Given the description of an element on the screen output the (x, y) to click on. 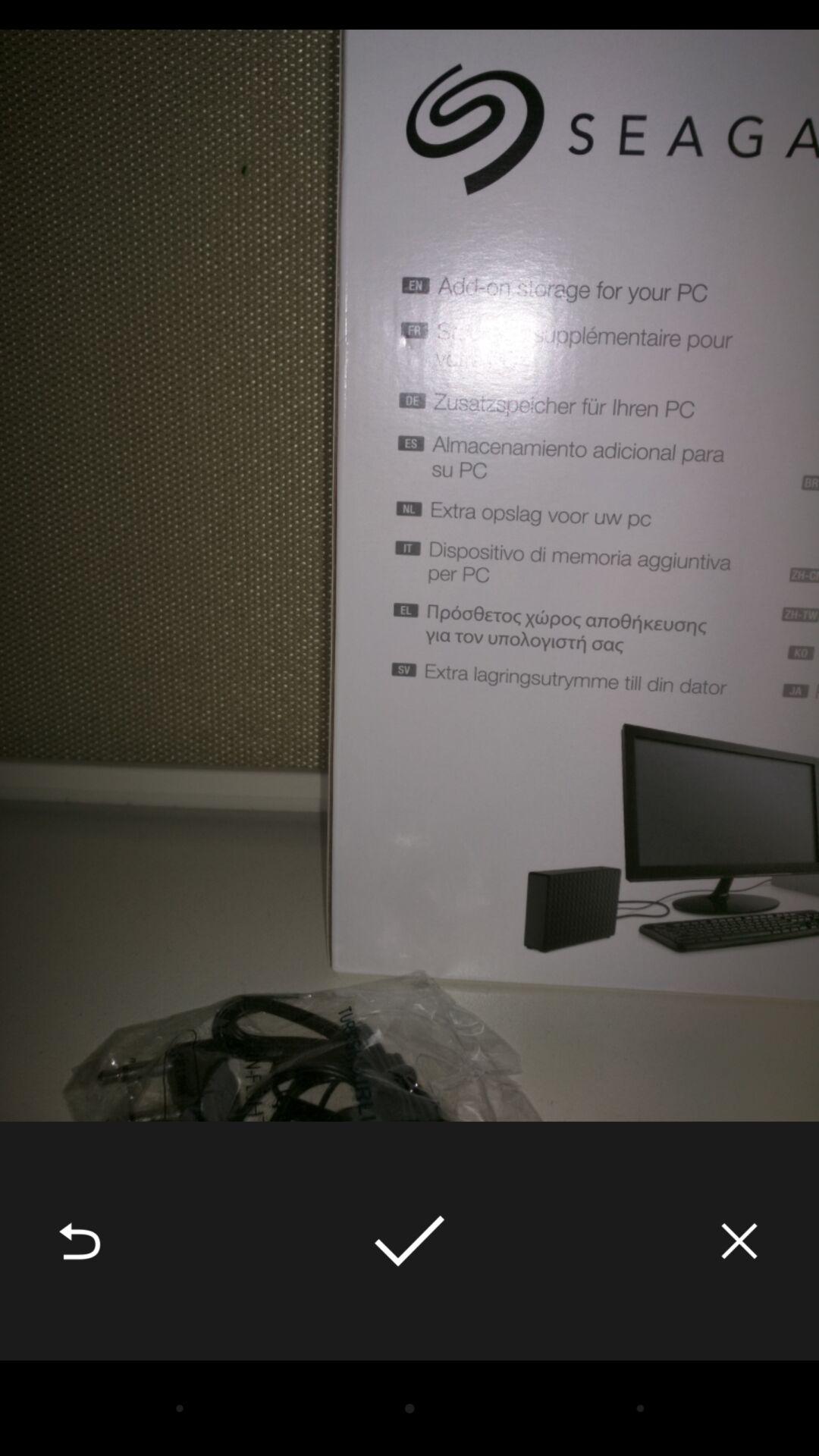
tap icon at the bottom left corner (79, 1240)
